Given the description of an element on the screen output the (x, y) to click on. 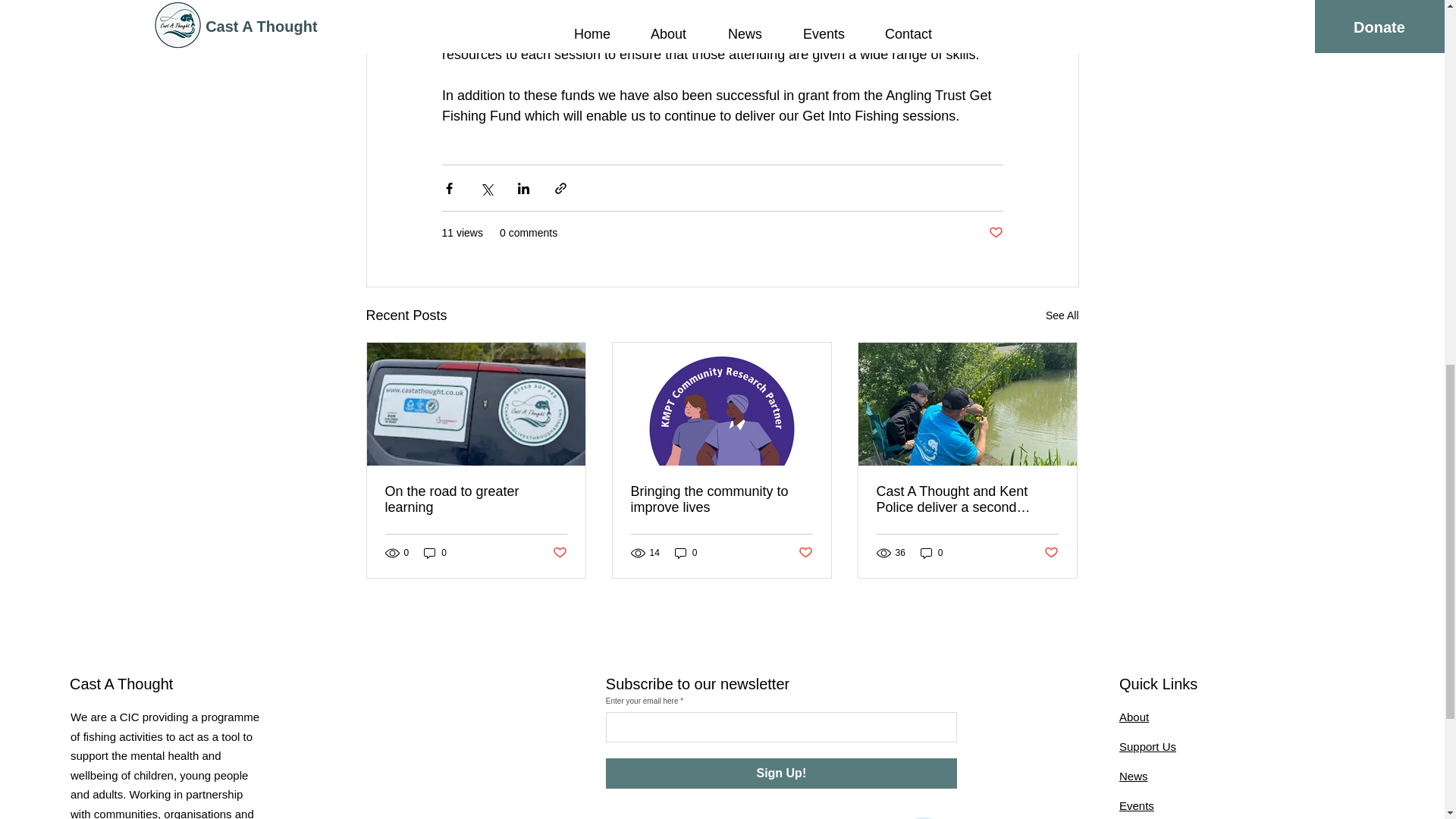
Post not marked as liked (995, 232)
Post not marked as liked (804, 552)
Post not marked as liked (558, 552)
0 (931, 553)
0 (685, 553)
0 (435, 553)
Bringing the community to improve lives (721, 499)
On the road to greater learning (476, 499)
Post not marked as liked (1050, 552)
See All (1061, 315)
